Given the description of an element on the screen output the (x, y) to click on. 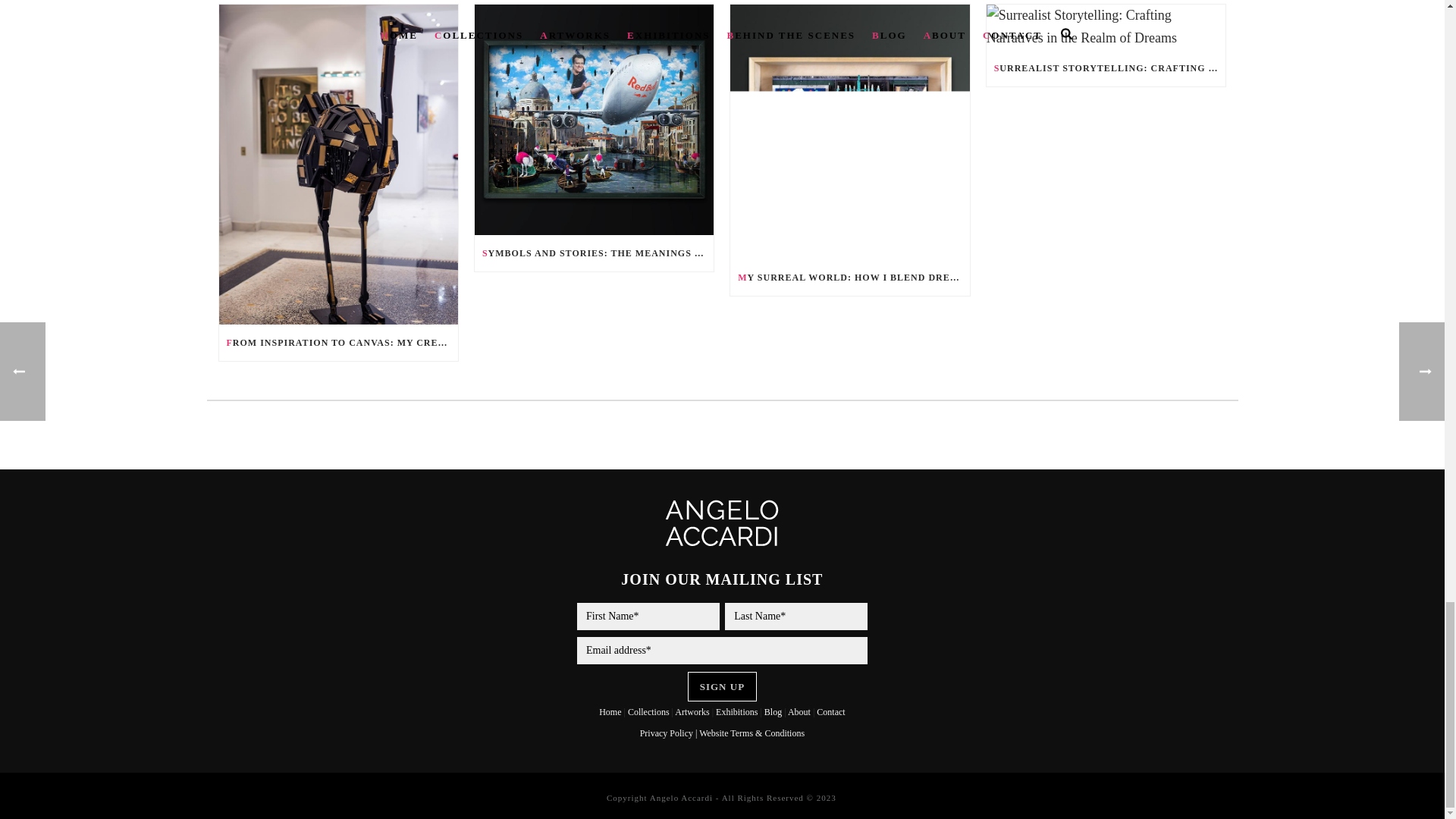
Symbols and Stories: The Meanings Behind My Art (593, 119)
Sign up (722, 686)
My Surreal World: How I Blend Dreams with Reality (849, 131)
